Given the description of an element on the screen output the (x, y) to click on. 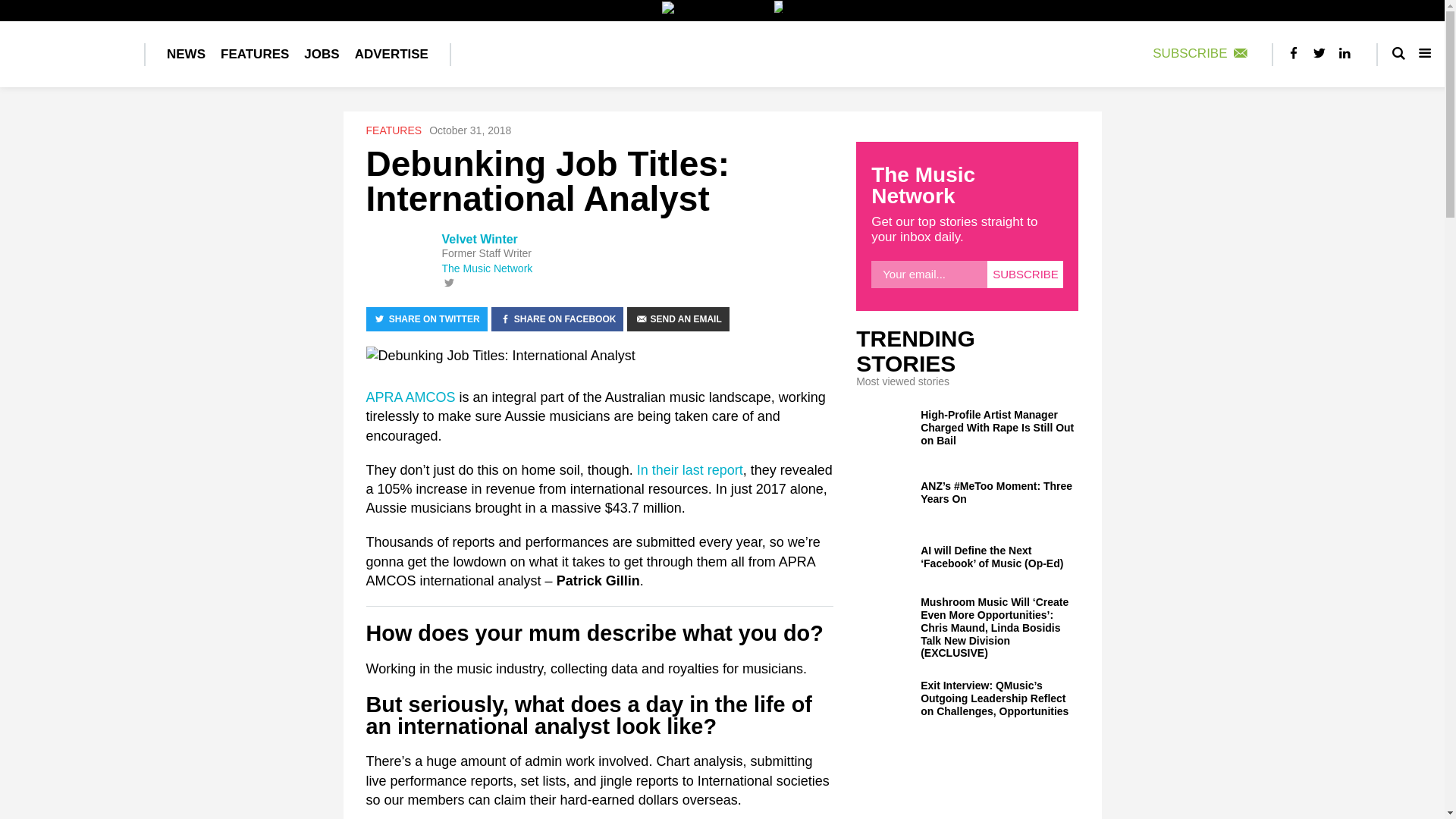
JOBS (321, 54)
ADVERTISE (391, 54)
FEATURES (254, 54)
SUBSCRIBE (1201, 52)
NEWS (185, 54)
The Brag Media (716, 10)
Subscribe (1024, 274)
